Given the description of an element on the screen output the (x, y) to click on. 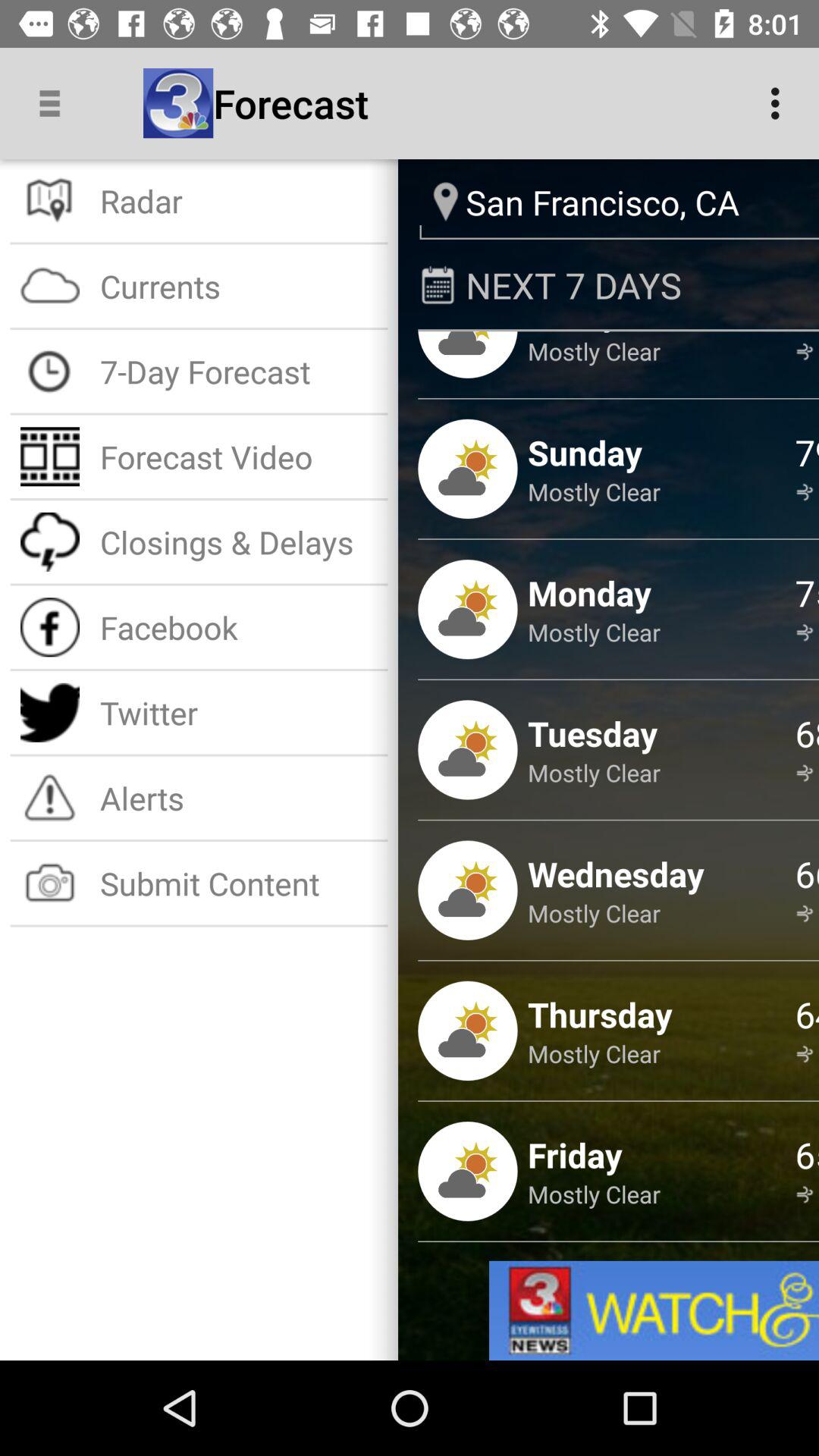
choose the icon next to the thursday item (807, 1054)
